Given the description of an element on the screen output the (x, y) to click on. 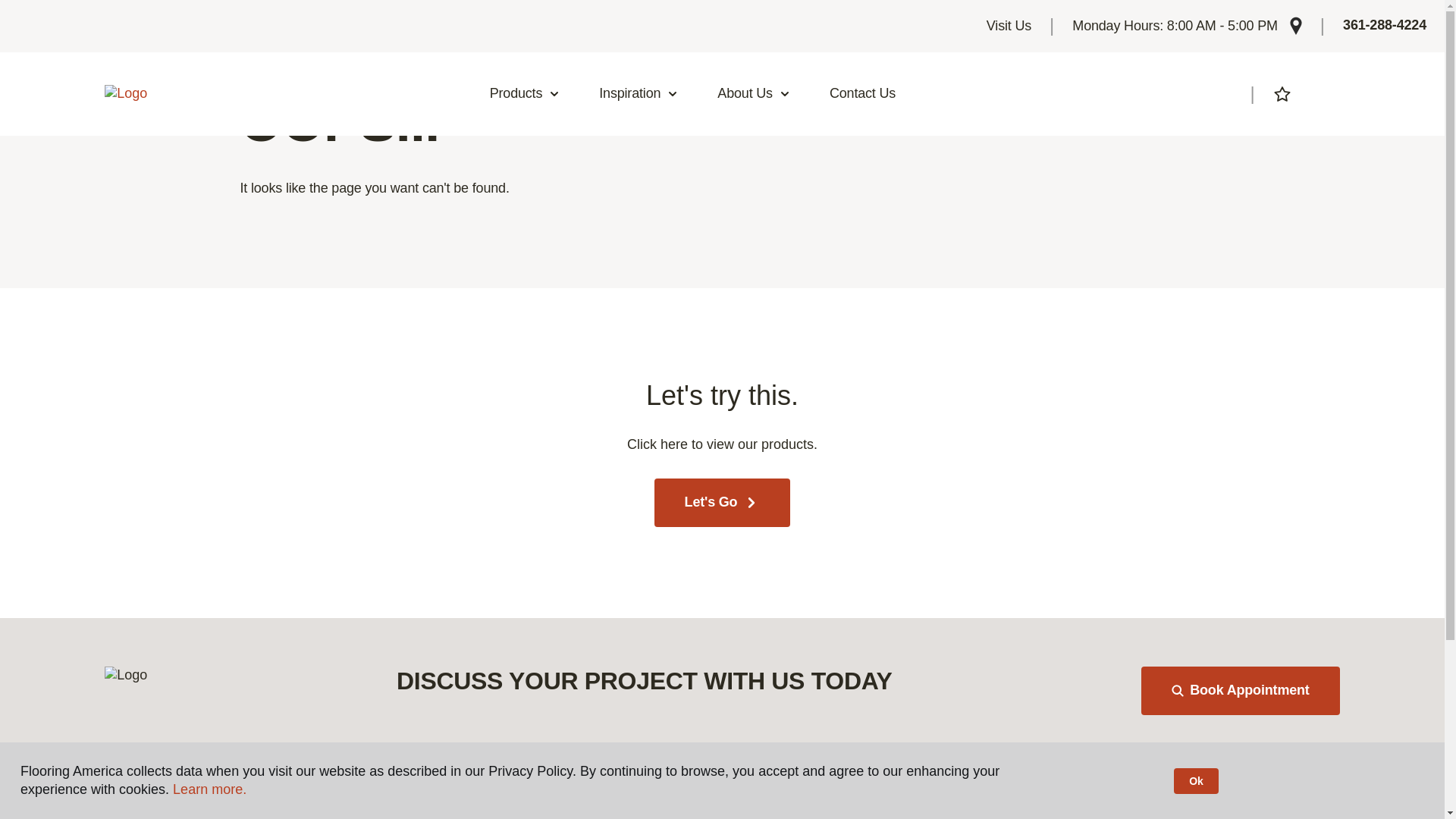
Inspiration (638, 94)
361-288-4224 (1384, 25)
Visit Us (1008, 26)
Contact Us (862, 94)
About Us (753, 94)
Products (525, 94)
